Given the description of an element on the screen output the (x, y) to click on. 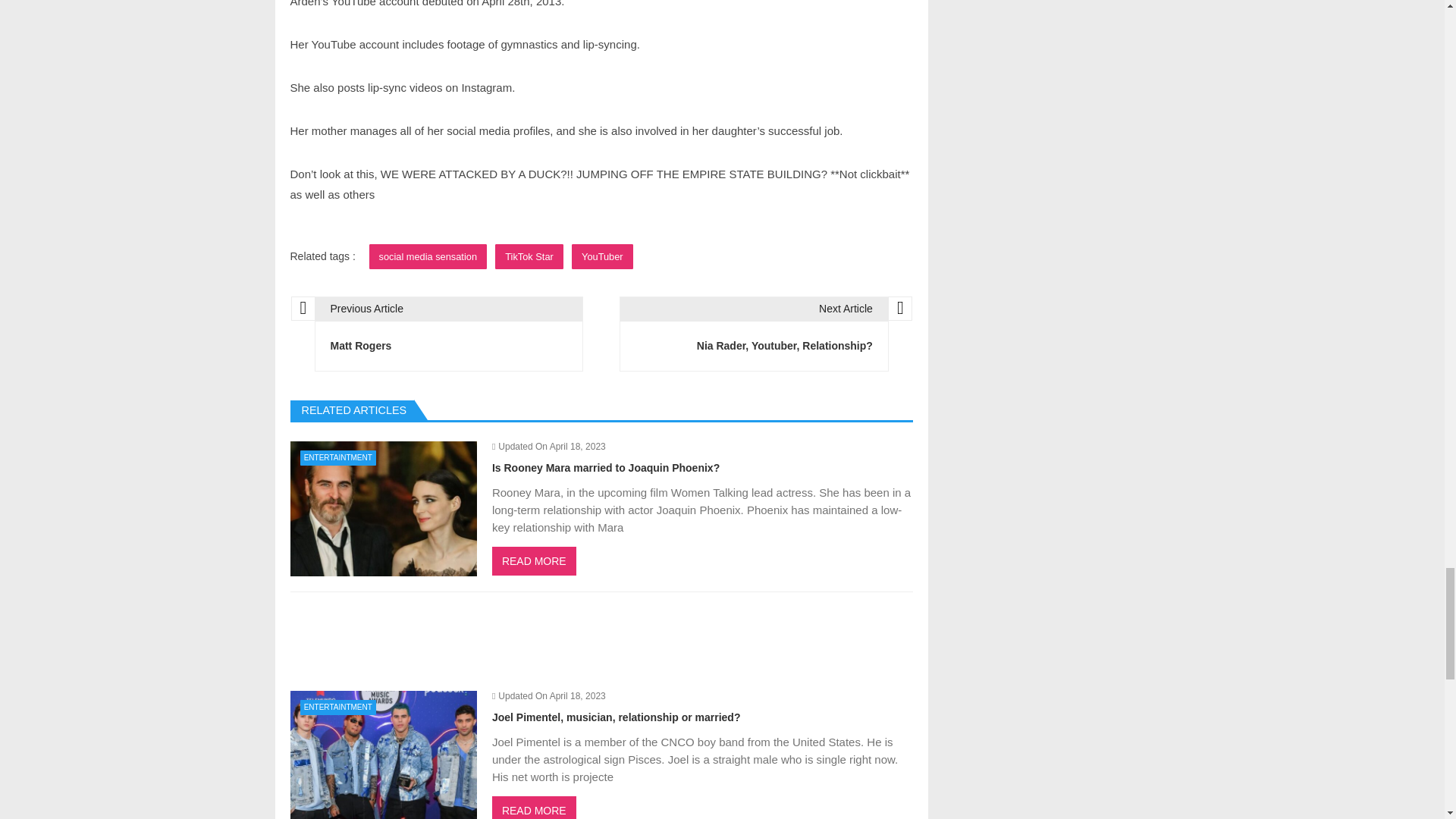
Is Rooney Mara married to Joaquin Phoenix? (382, 508)
social media sensation (427, 256)
TikTok Star (529, 256)
Joel Pimentel, musician, relationship or married? (382, 755)
